Given the description of an element on the screen output the (x, y) to click on. 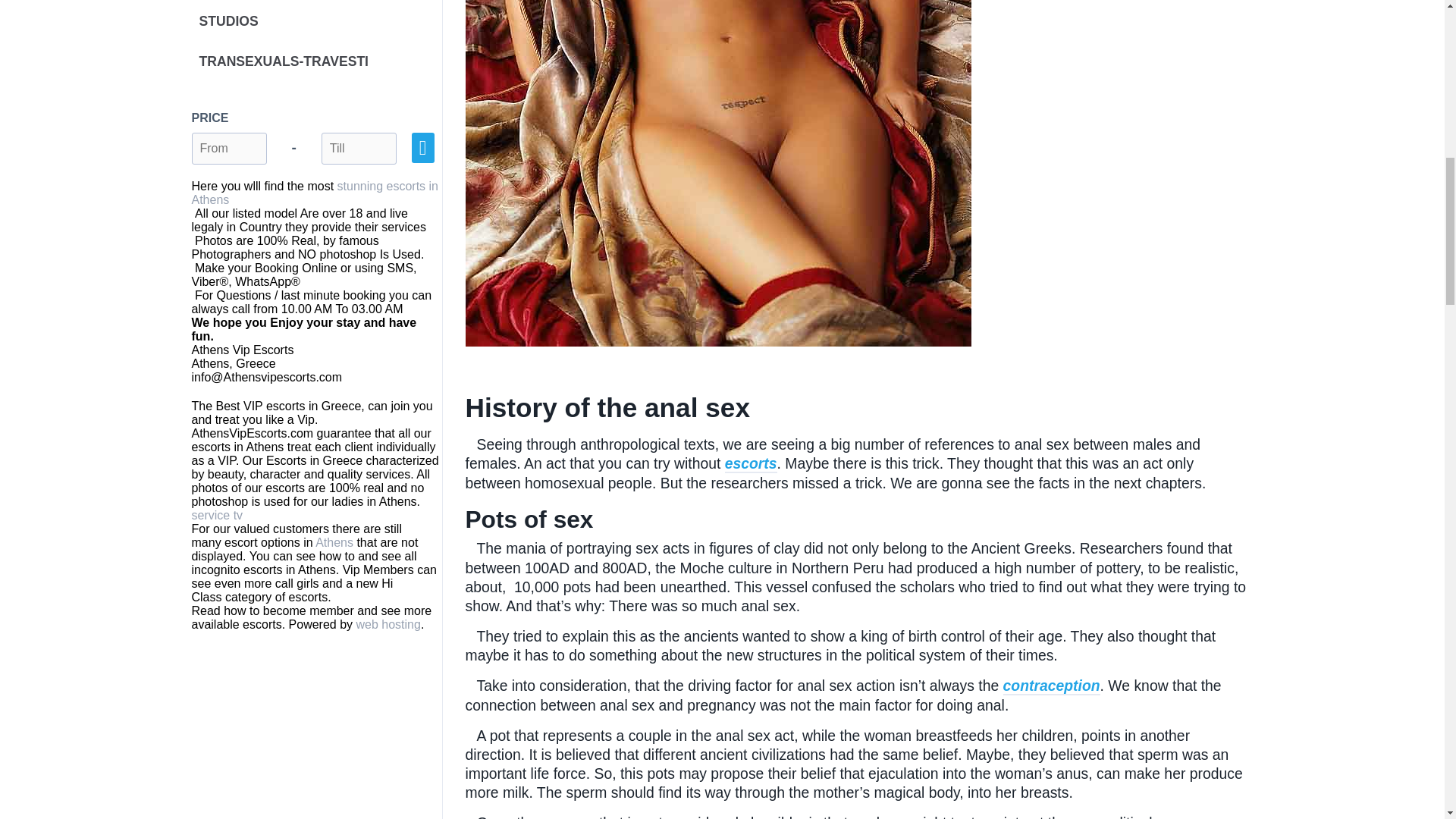
escorts (751, 464)
TRANSEXUALS-TRAVESTI (315, 61)
STUDIOS (315, 21)
contraception (1051, 686)
